Given the description of an element on the screen output the (x, y) to click on. 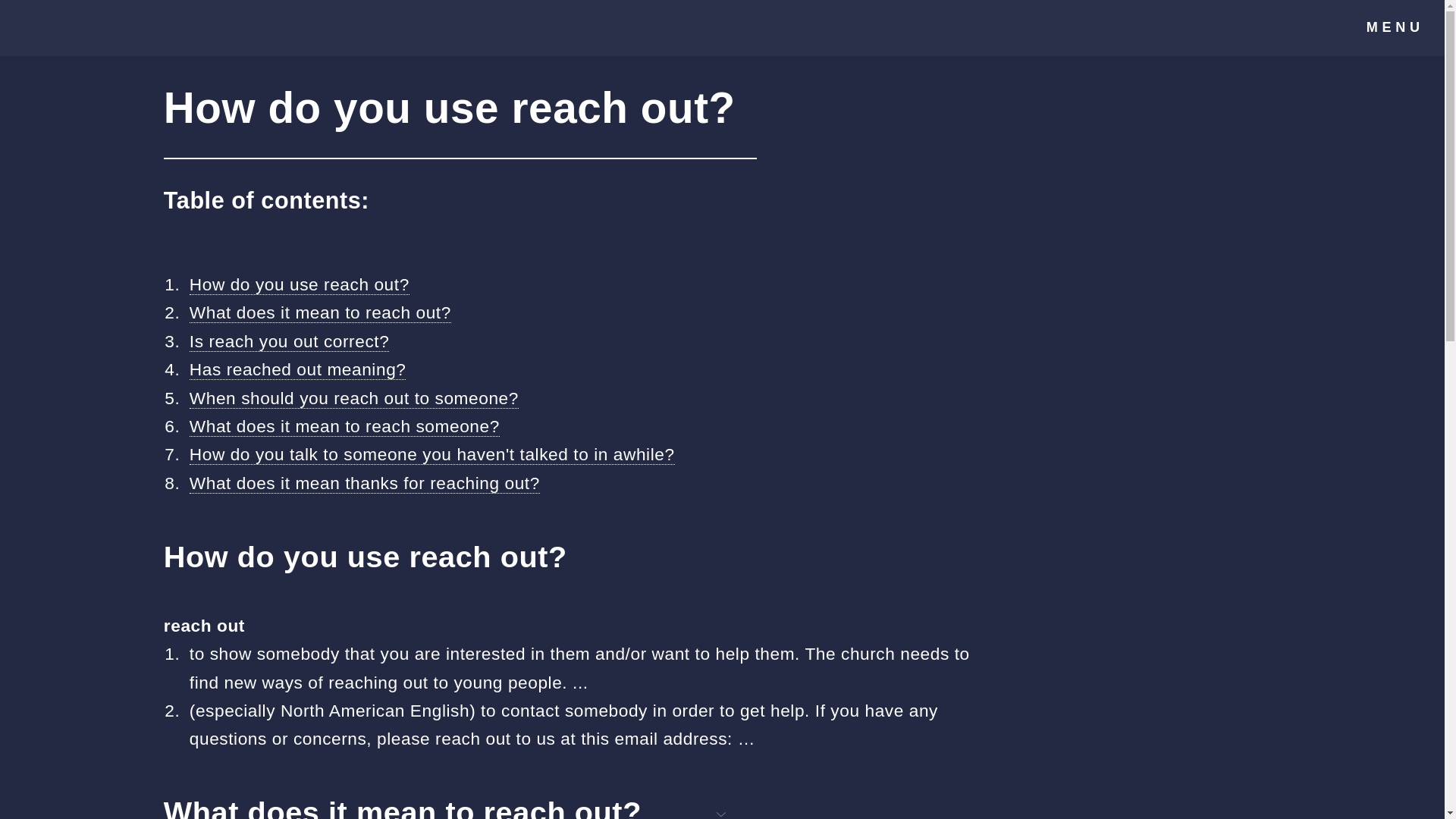
How do you use reach out? (299, 284)
What does it mean to reach someone? (344, 426)
When should you reach out to someone? (353, 398)
What does it mean to reach out? (320, 312)
Ad.Plus Advertising (722, 813)
What does it mean thanks for reaching out? (364, 483)
Has reached out meaning? (297, 369)
How do you talk to someone you haven't talked to in awhile? (432, 454)
Is reach you out correct? (289, 341)
